Given the description of an element on the screen output the (x, y) to click on. 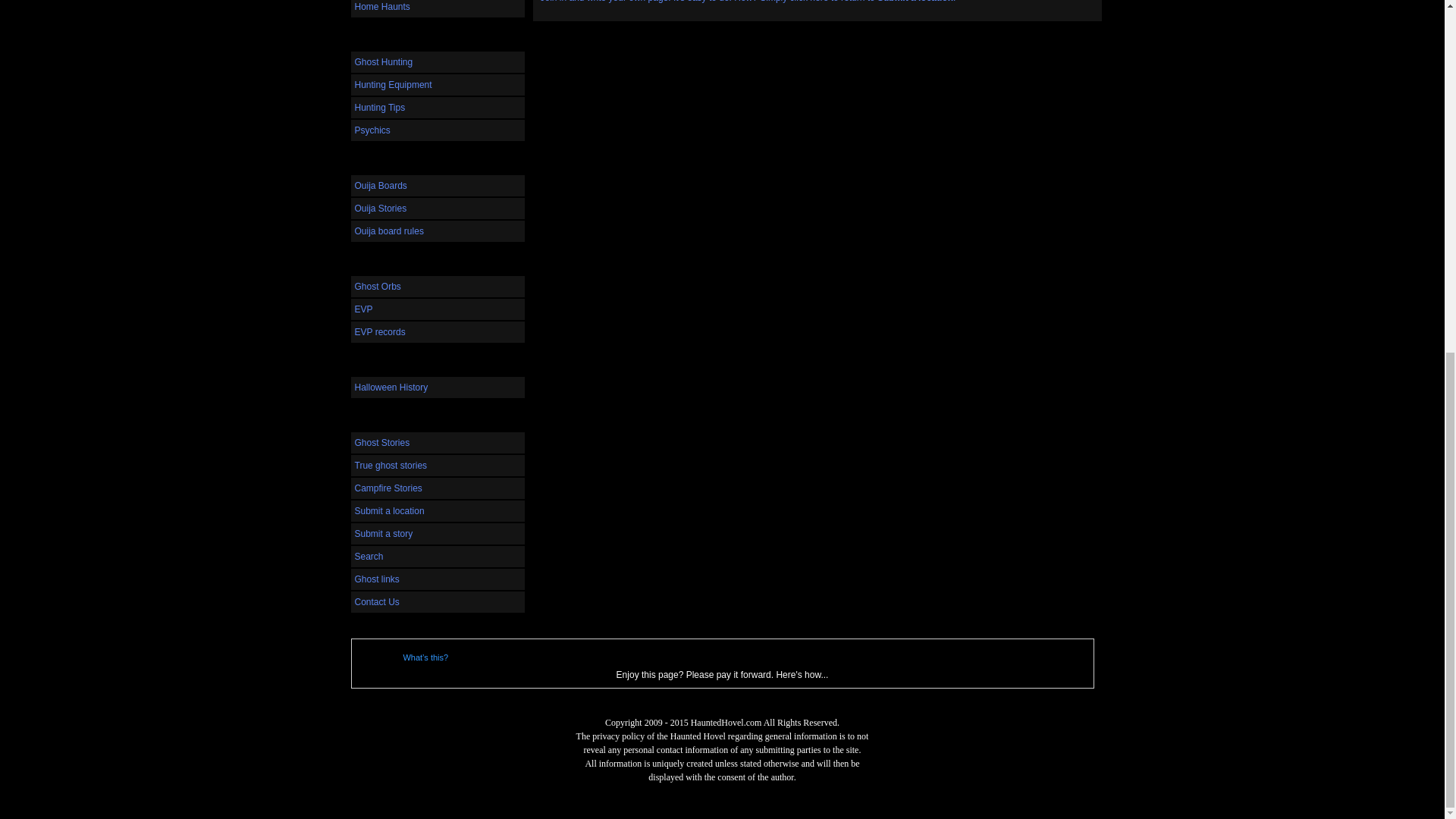
Contact Us (437, 601)
EVP (437, 309)
Psychics (437, 129)
Ghost Hunting (437, 61)
Search (437, 556)
Ouija Stories (437, 208)
Submit a story (437, 533)
Submit a location (437, 510)
True ghost stories (437, 465)
Home Haunts (437, 8)
